Given the description of an element on the screen output the (x, y) to click on. 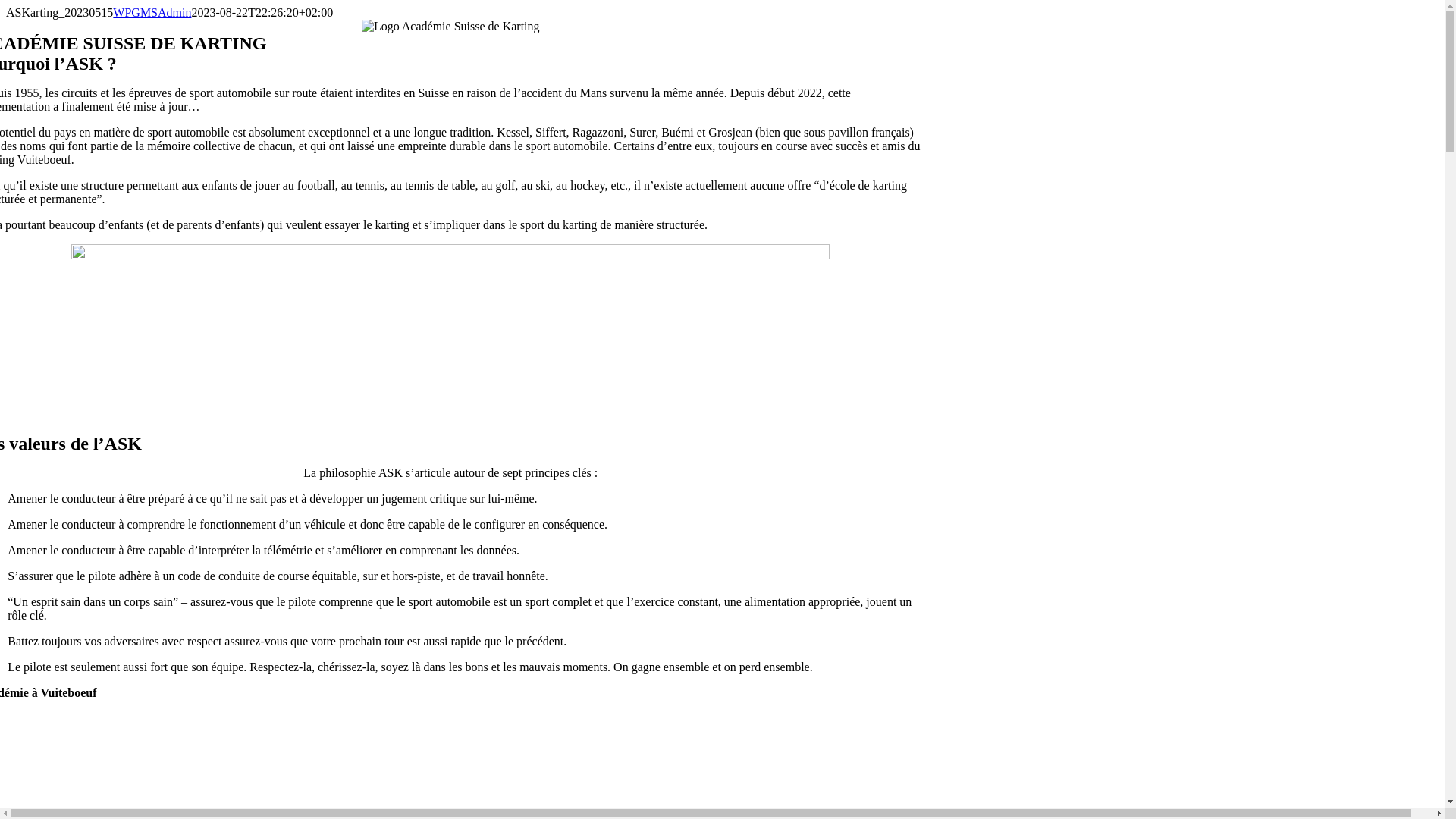
WPGMSAdmin Element type: text (151, 12)
Passer au contenu Element type: text (5, 5)
